Given the description of an element on the screen output the (x, y) to click on. 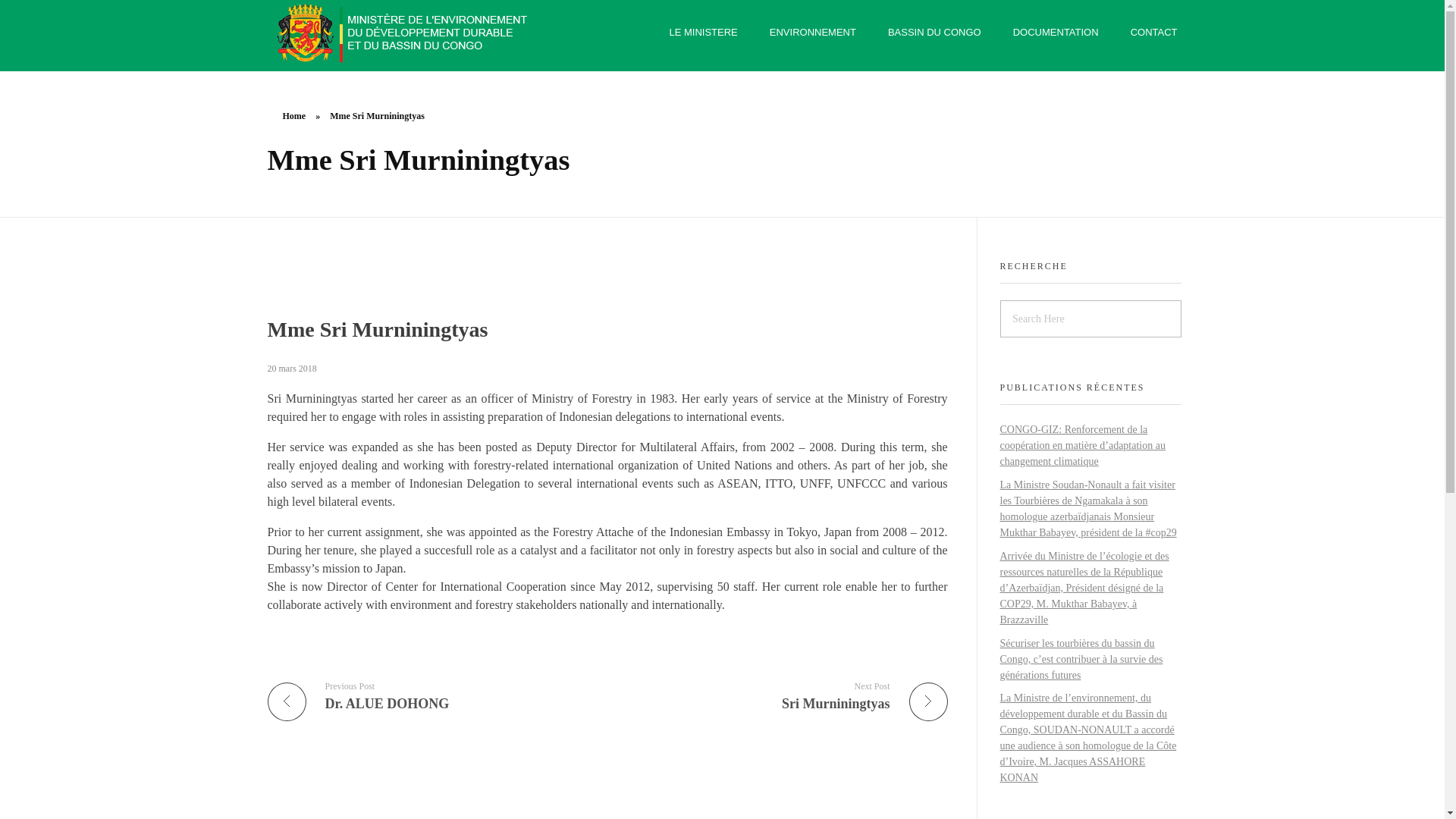
Search (42, 13)
CONTACT (1146, 32)
Home (783, 695)
LE MINISTERE (293, 115)
ENVIRONNEMENT (710, 32)
DOCUMENTATION (813, 32)
BASSIN DU CONGO (1056, 32)
